Given the description of an element on the screen output the (x, y) to click on. 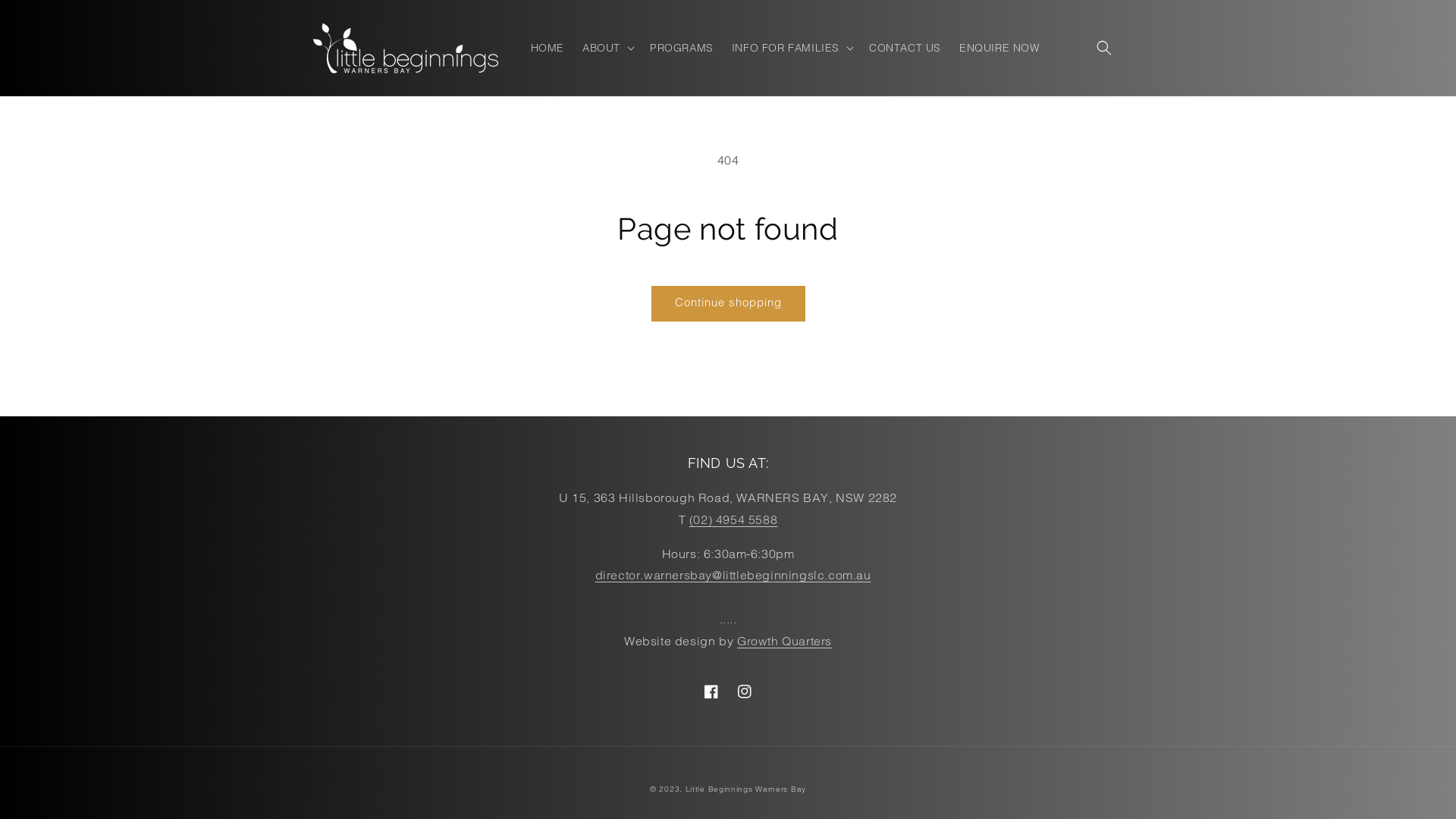
PROGRAMS Element type: text (681, 47)
(02) 4954 5588 Element type: text (733, 519)
ENQUIRE NOW Element type: text (999, 47)
Facebook Element type: text (711, 691)
director.warnersbay@littlebeginningslc.com.au Element type: text (733, 574)
Cart Element type: text (1137, 47)
Little Beginnings Warners Bay Element type: text (745, 788)
HOME Element type: text (547, 47)
Growth Quarters Element type: text (784, 640)
Continue shopping Element type: text (728, 303)
CONTACT US Element type: text (904, 47)
Instagram Element type: text (744, 691)
